Given the description of an element on the screen output the (x, y) to click on. 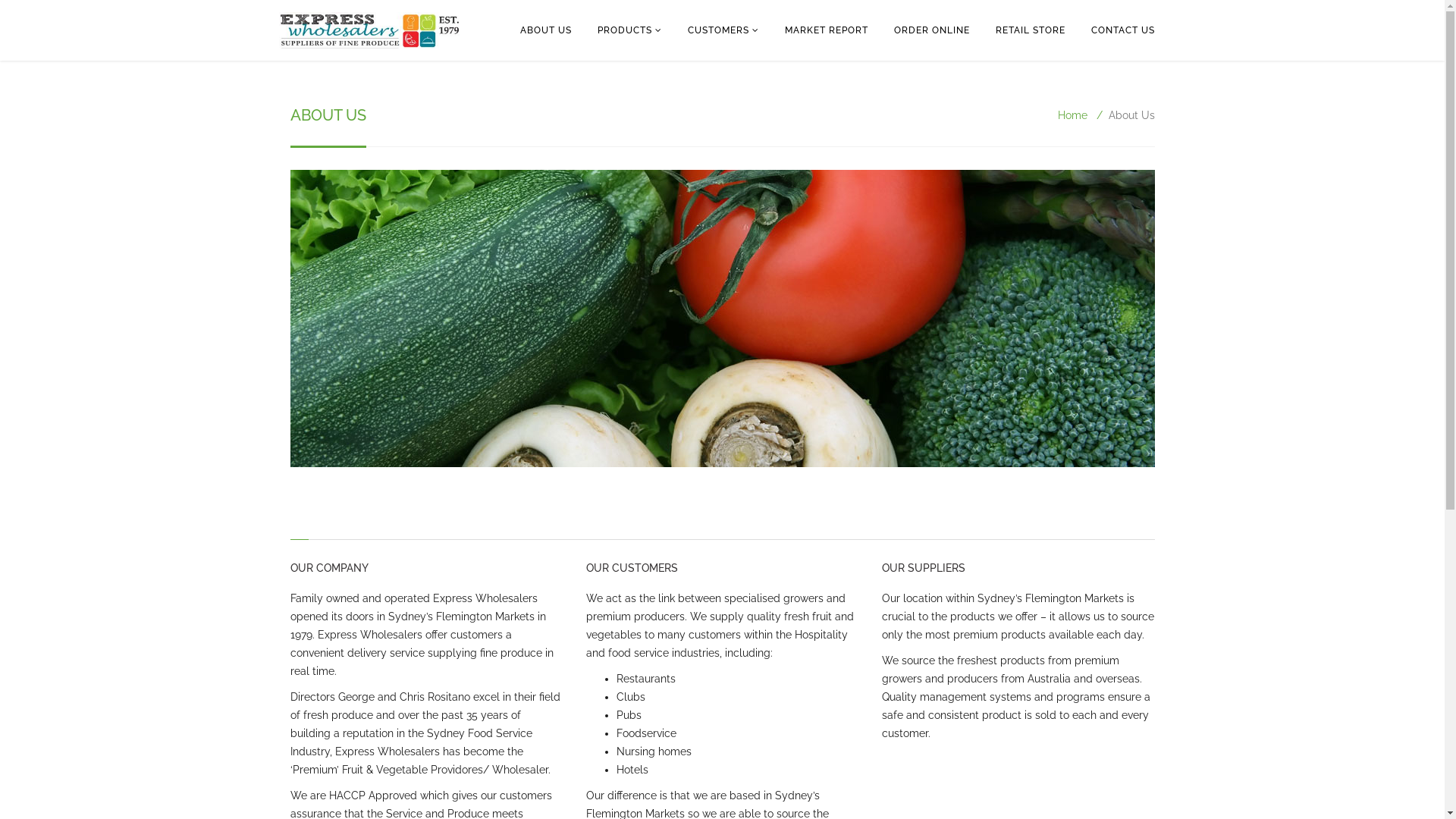
PRODUCTS Element type: text (628, 30)
ew-about-r Element type: hover (721, 318)
Home Element type: text (1071, 115)
CONTACT US Element type: text (1122, 30)
MARKET REPORT Element type: text (826, 30)
CUSTOMERS Element type: text (723, 30)
ORDER ONLINE Element type: text (931, 30)
ABOUT US Element type: text (545, 30)
RETAIL STORE Element type: text (1030, 30)
